Given the description of an element on the screen output the (x, y) to click on. 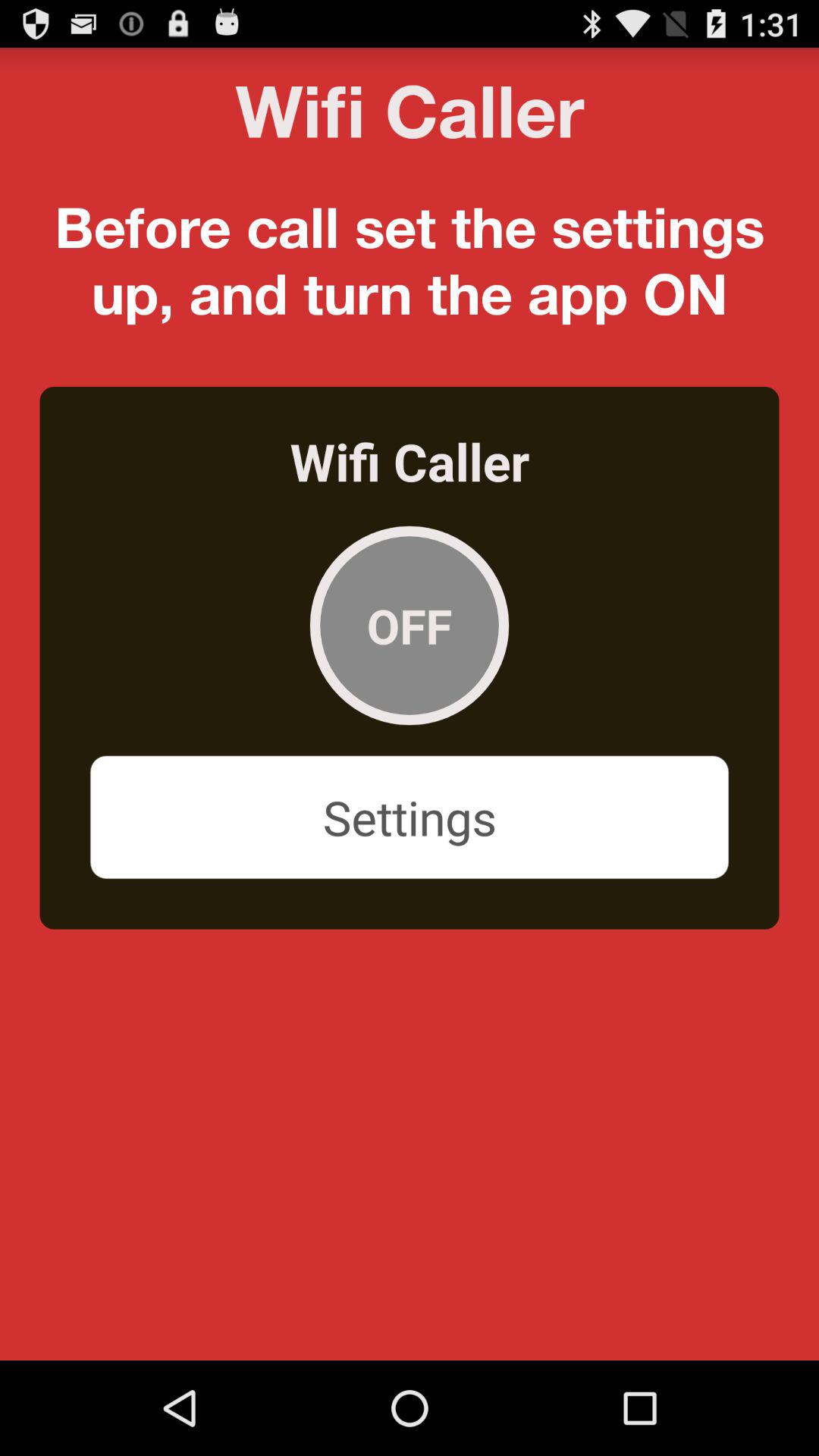
turn off icon below wifi caller icon (409, 625)
